Given the description of an element on the screen output the (x, y) to click on. 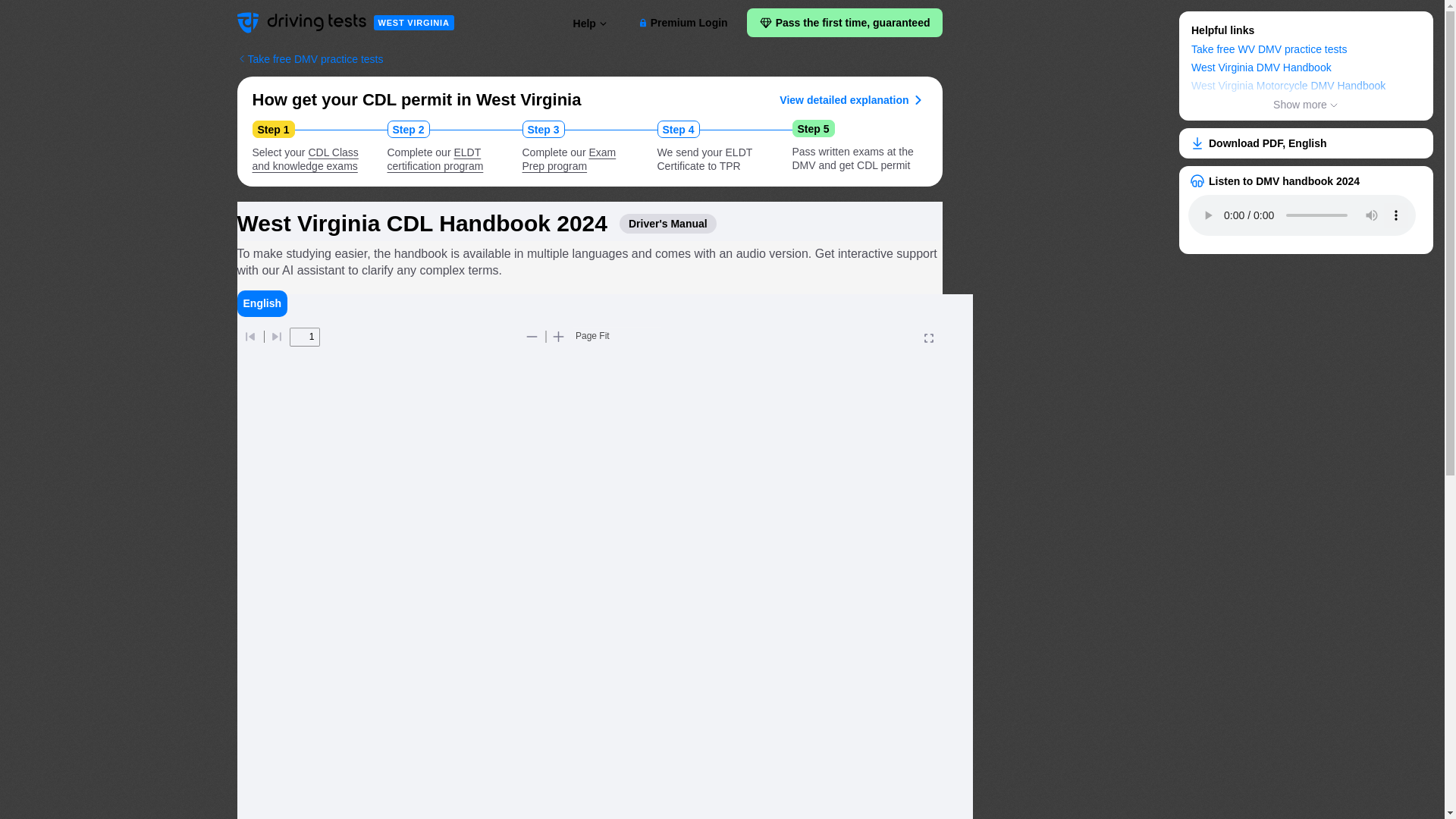
Download PDF (1305, 142)
Pass the first time, guaranteed (844, 22)
West Virginia DMV Handbook (1261, 67)
1 (304, 336)
Show more (1306, 105)
West Virginia Motorcycle DMV Handbook (1288, 85)
View detailed explanation (852, 99)
Premium Login (682, 22)
WEST VIRGINIA (412, 22)
Take free WV DMV practice tests (435, 159)
Download PDF, English (304, 159)
Help (1268, 49)
